Given the description of an element on the screen output the (x, y) to click on. 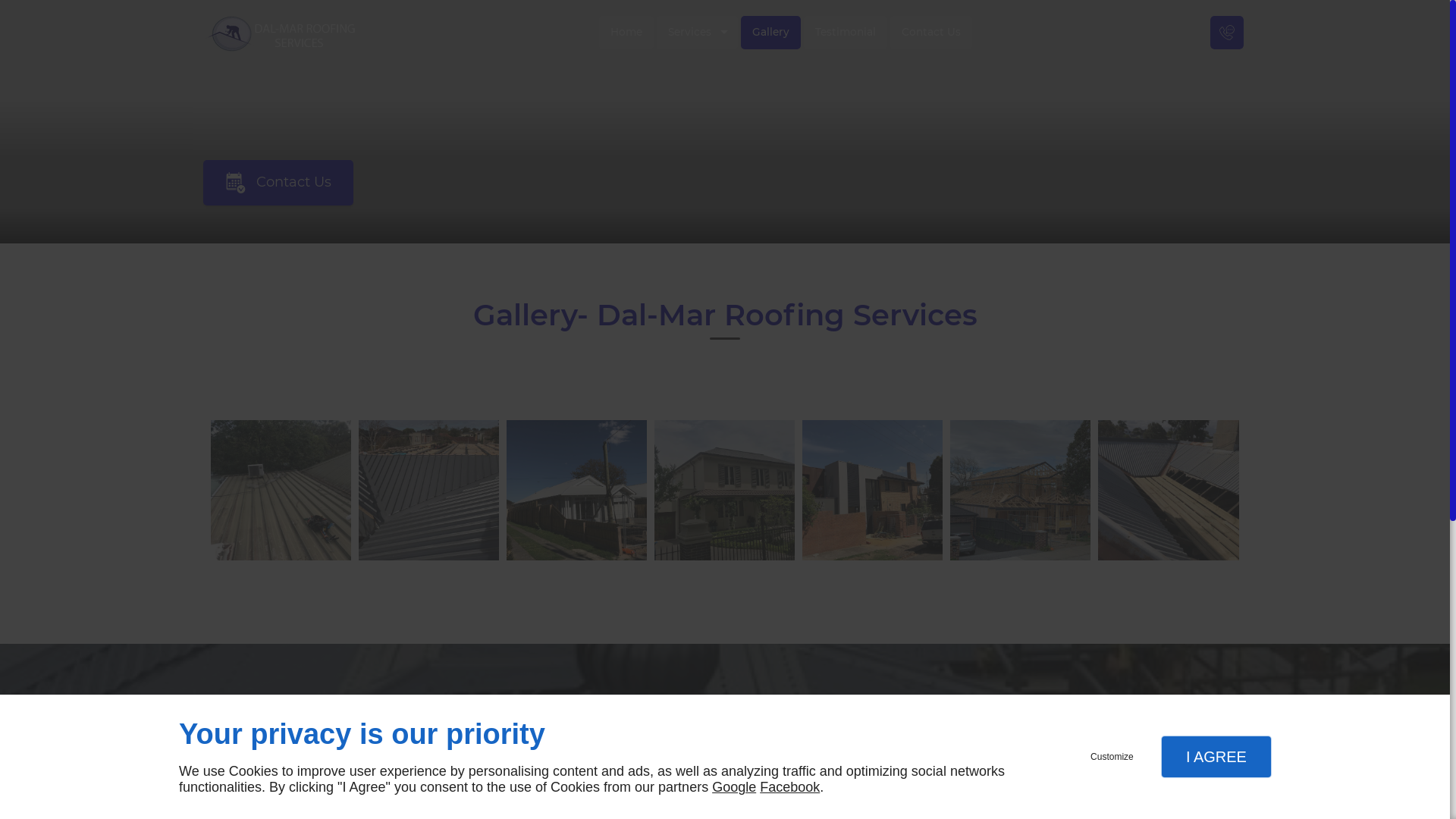
Gallery Element type: text (770, 32)
Contact Us Element type: text (931, 32)
Google Element type: text (734, 786)
Contact Us Element type: text (278, 181)
Facebook Element type: text (789, 786)
Services Element type: text (696, 32)
Home Element type: text (626, 32)
Testimonial Element type: text (845, 32)
